Given the description of an element on the screen output the (x, y) to click on. 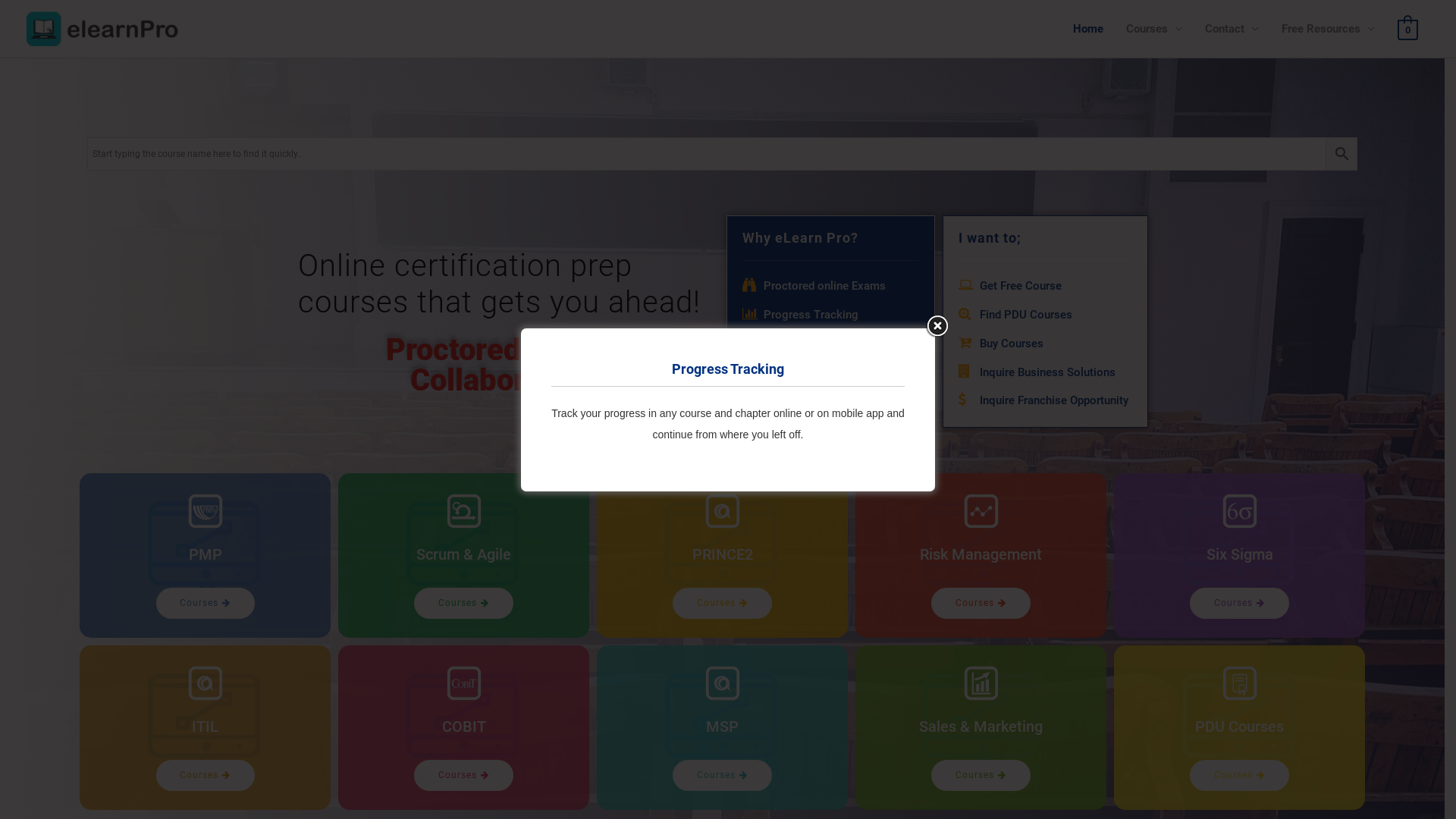
SM-w Element type: hover (980, 683)
Courses Element type: text (721, 774)
Agile-w Element type: hover (463, 511)
MSP LogoW Element type: hover (205, 683)
Courses Element type: text (205, 774)
Home Element type: text (1087, 28)
PDU-w Element type: hover (1239, 683)
Courses Element type: text (980, 774)
Progress Tracking Element type: text (829, 315)
Courses Element type: text (980, 602)
Free Resources Element type: text (1328, 28)
Courses Element type: text (205, 602)
Courses Element type: text (463, 602)
Cobit-w Element type: hover (463, 683)
MSP LogoW Element type: hover (722, 683)
0 Element type: text (1407, 29)
Risk-w Element type: hover (980, 511)
Courses Element type: text (1239, 602)
PMP-w Element type: hover (205, 511)
Continuous Improvement Element type: text (829, 343)
Contact Element type: text (1231, 28)
MSP LogoW Element type: hover (722, 511)
Inquire Business Solutions Element type: text (1045, 372)
Inquire Franchise Opportunity Element type: text (1045, 400)
Courses Element type: text (1153, 28)
6sigma-w Element type: hover (1239, 511)
Courses Element type: text (463, 774)
Proctored online Exams Element type: text (829, 286)
Courses Element type: text (1239, 774)
Find PDU Courses Element type: text (1045, 315)
Courses Element type: text (721, 602)
Collaborate and Learn Element type: text (829, 372)
Get Free Course Element type: text (1045, 286)
Buy Courses Element type: text (1045, 343)
